Given the description of an element on the screen output the (x, y) to click on. 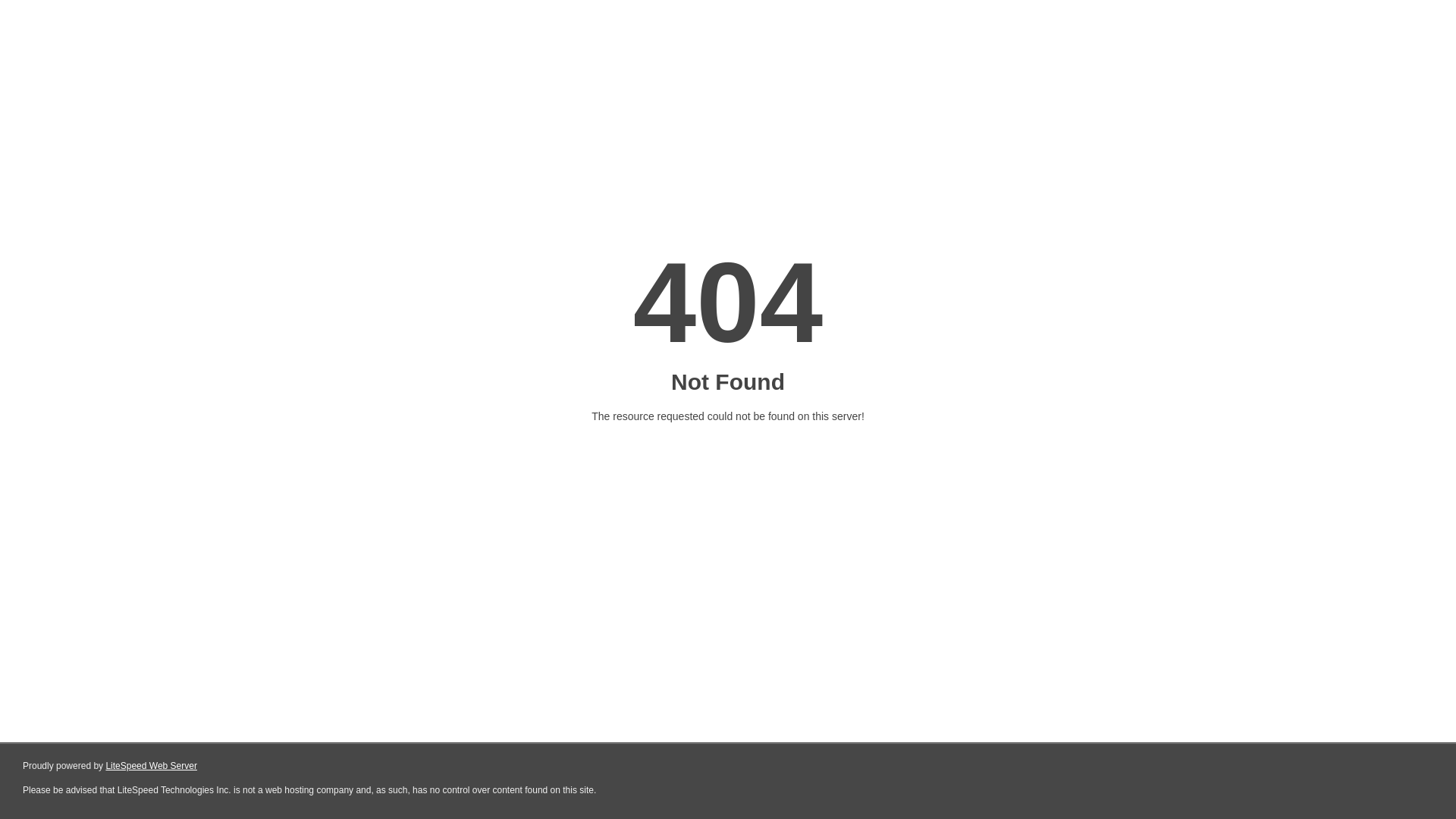
LiteSpeed Web Server Element type: text (151, 765)
